Given the description of an element on the screen output the (x, y) to click on. 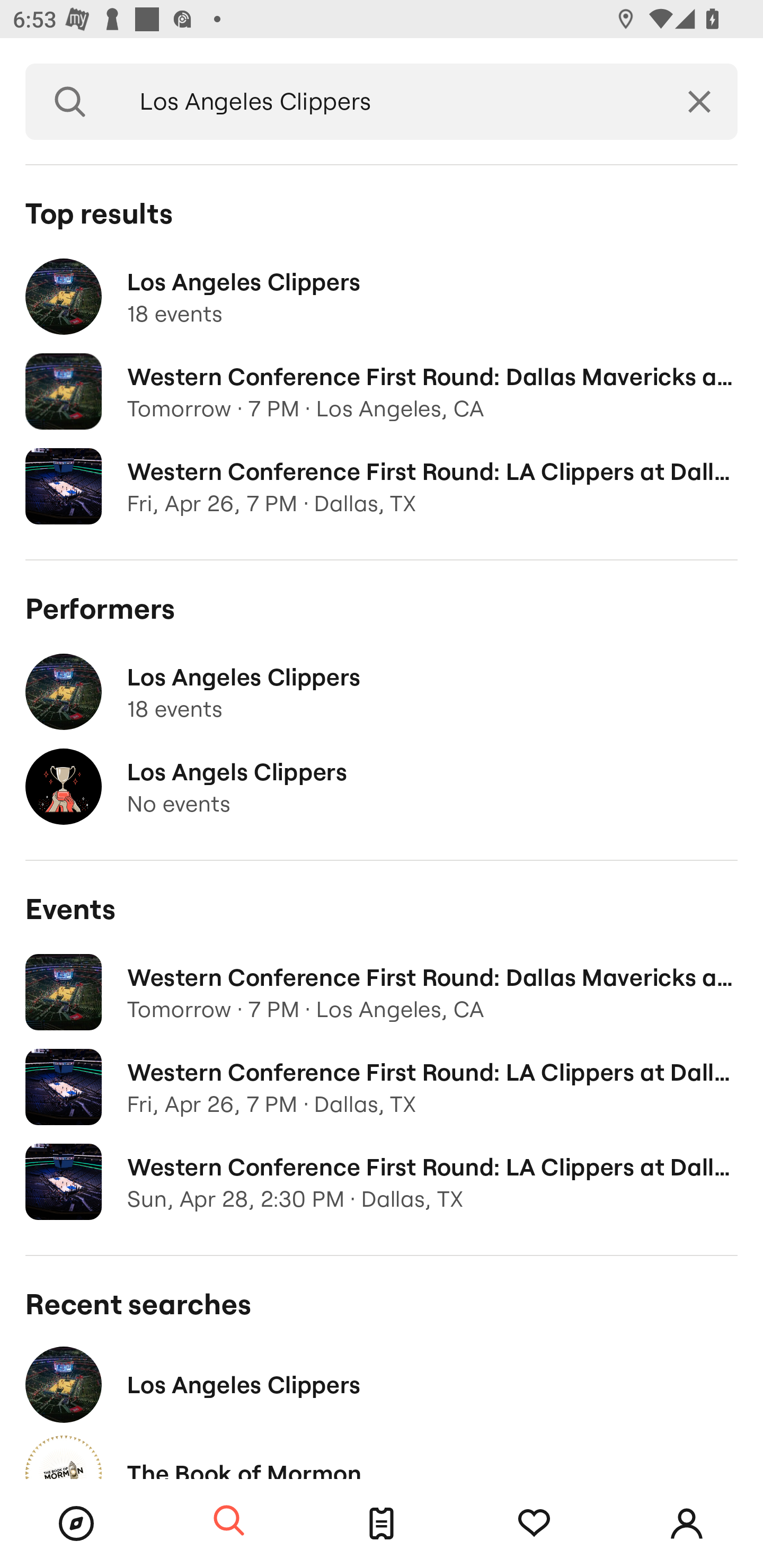
Search (69, 101)
Los Angeles Clippers (387, 101)
Clear (699, 101)
Los Angeles Clippers 18 events (381, 296)
Los Angeles Clippers 18 events (381, 692)
Los Angels Clippers No events (381, 787)
Los Angeles Clippers (381, 1384)
Browse (76, 1523)
Search (228, 1521)
Tickets (381, 1523)
Tracking (533, 1523)
Account (686, 1523)
